Given the description of an element on the screen output the (x, y) to click on. 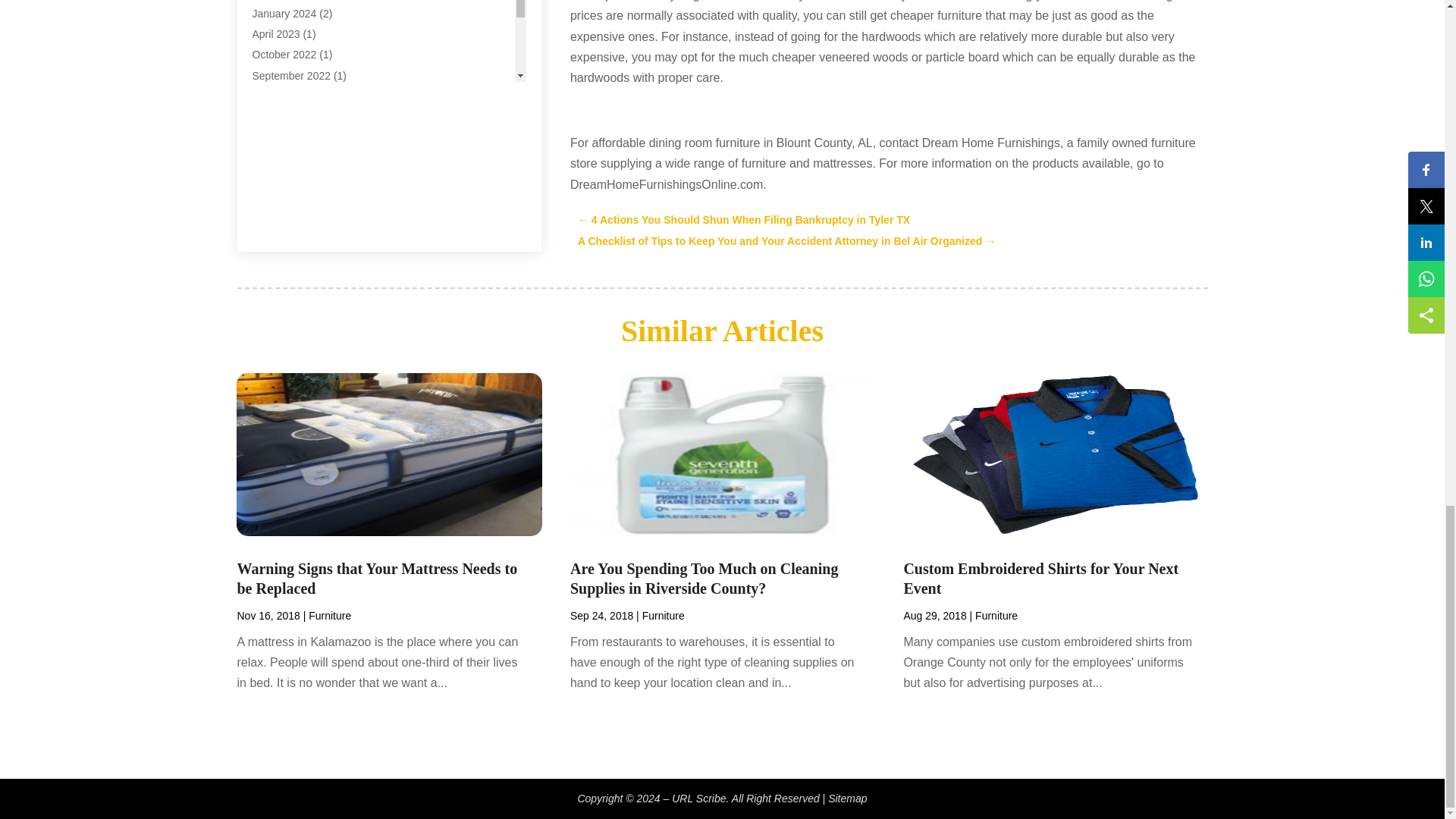
Air Conditioning (288, 20)
Air Conditioner (286, 2)
